Given the description of an element on the screen output the (x, y) to click on. 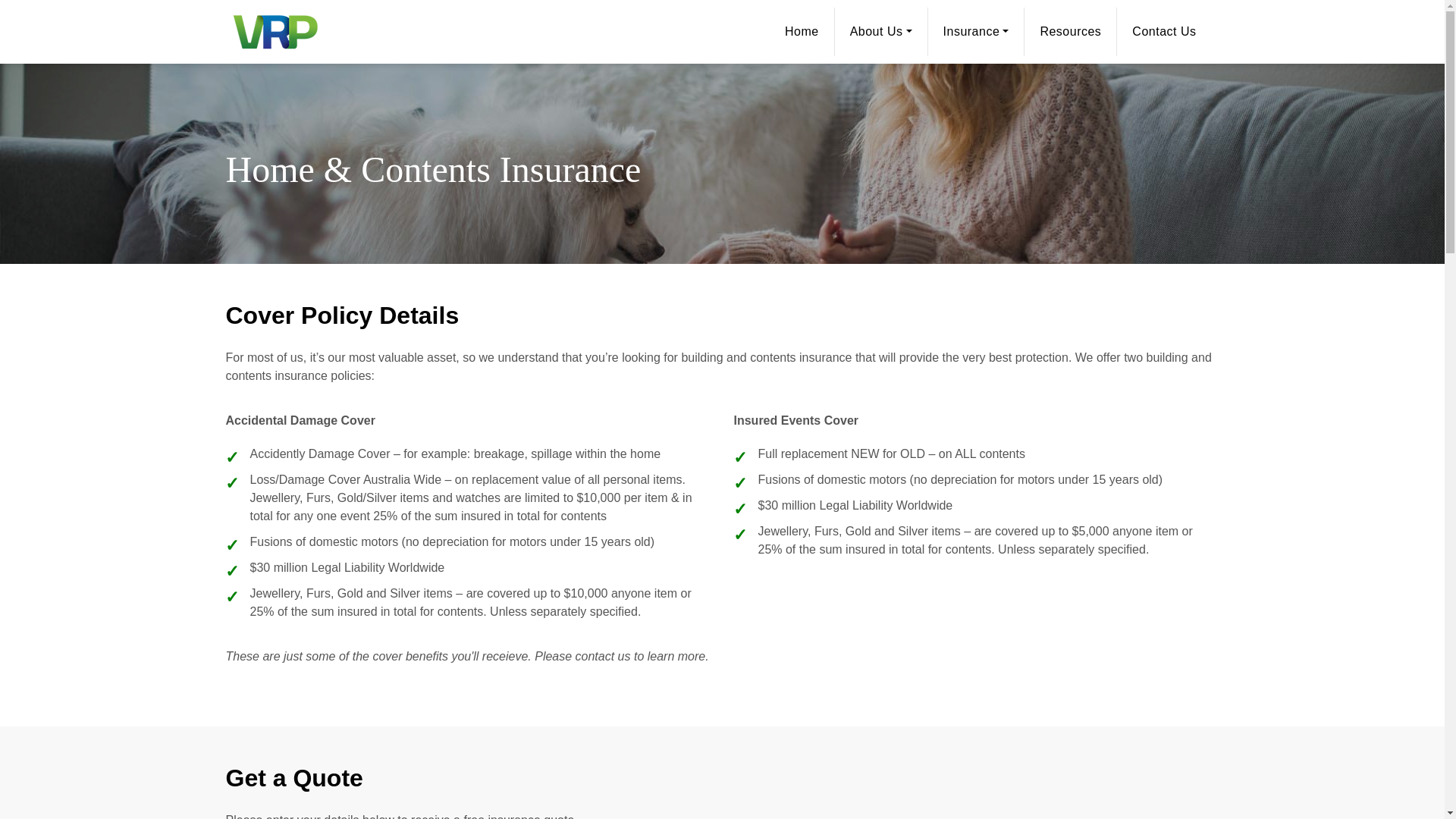
Home (802, 31)
Contact Us (1163, 31)
About Us (881, 31)
Insurance (976, 31)
Resources (1070, 31)
